Given the description of an element on the screen output the (x, y) to click on. 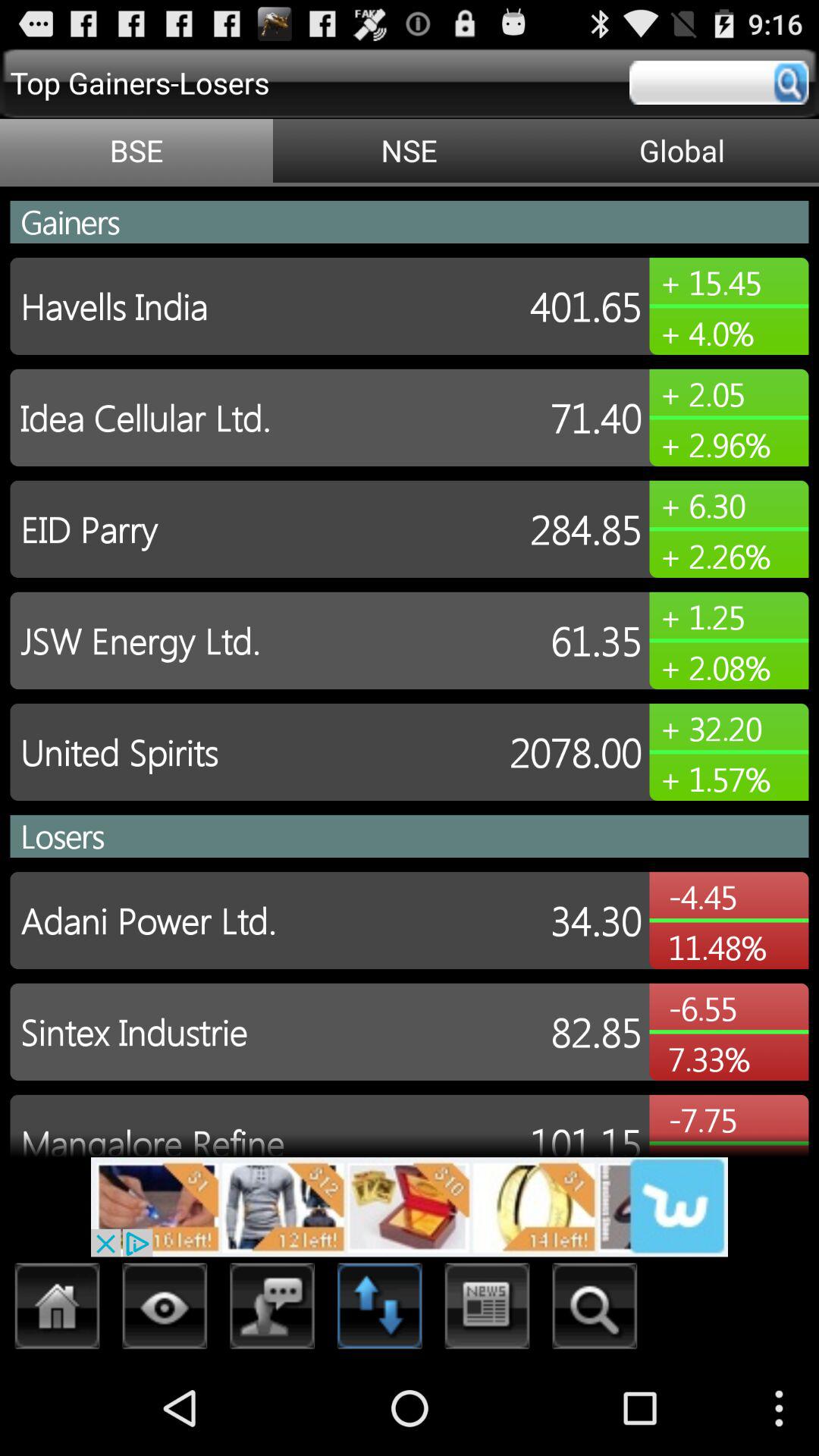
find company (594, 1310)
